Given the description of an element on the screen output the (x, y) to click on. 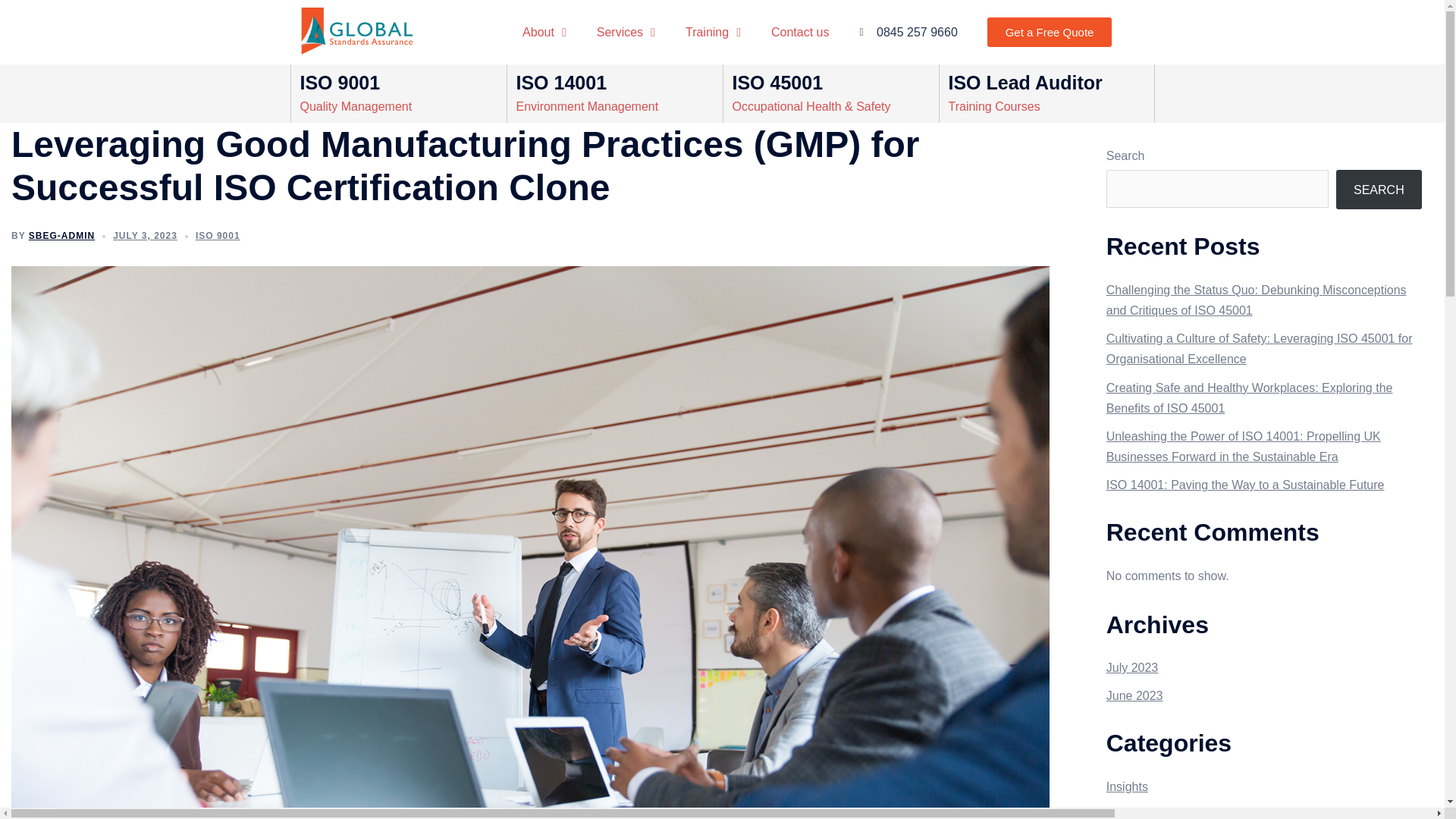
About (543, 32)
Services (624, 32)
